Given the description of an element on the screen output the (x, y) to click on. 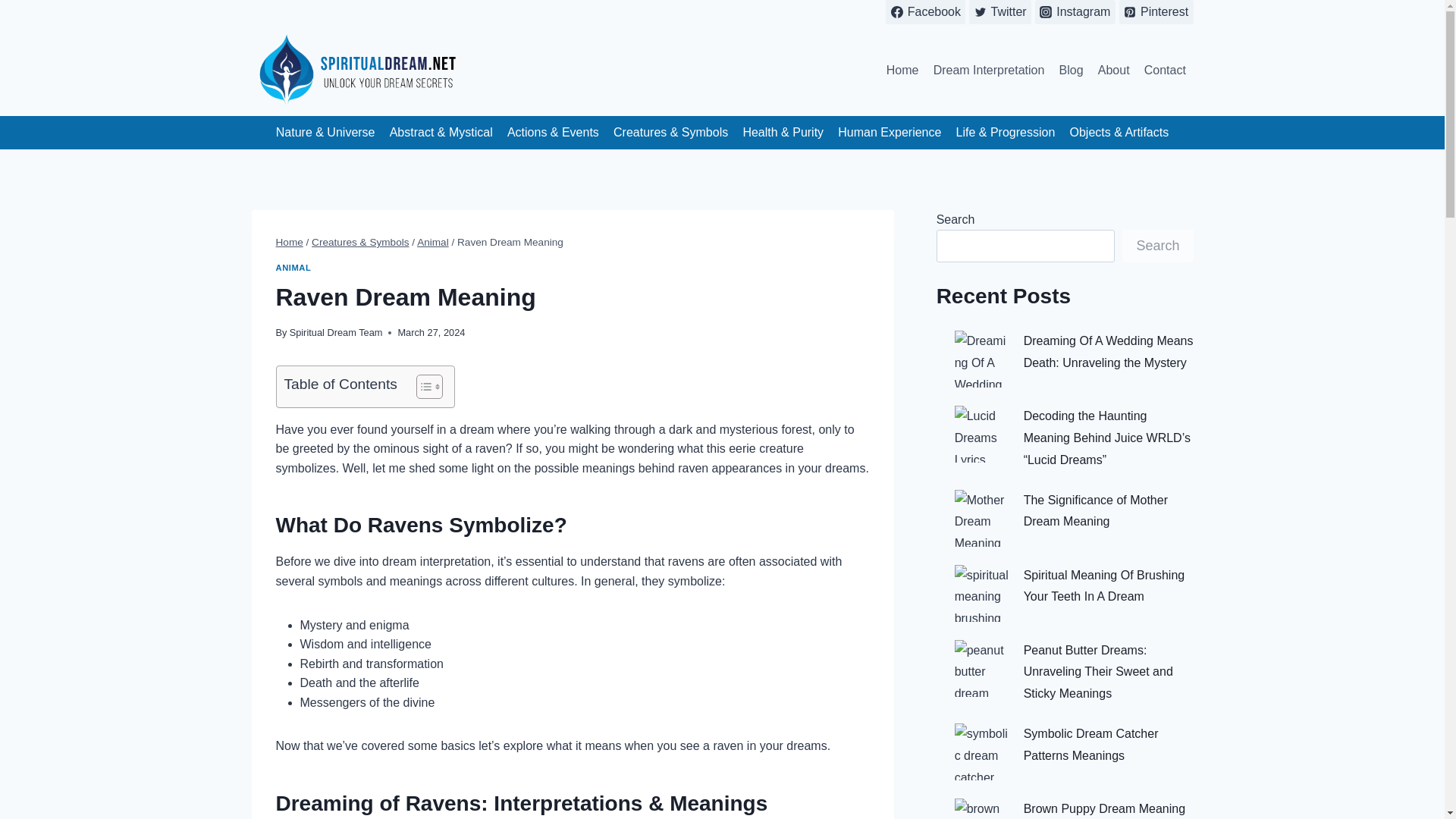
Dream Interpretation (988, 69)
Instagram (1075, 12)
About (1113, 69)
Twitter (999, 12)
Home (289, 242)
Human Experience (890, 132)
Blog (1070, 69)
ANIMAL (293, 266)
Pinterest (1156, 12)
Home (902, 69)
Spiritual Dream Team (335, 332)
Animal (432, 242)
Contact (1164, 69)
Facebook (925, 12)
